Given the description of an element on the screen output the (x, y) to click on. 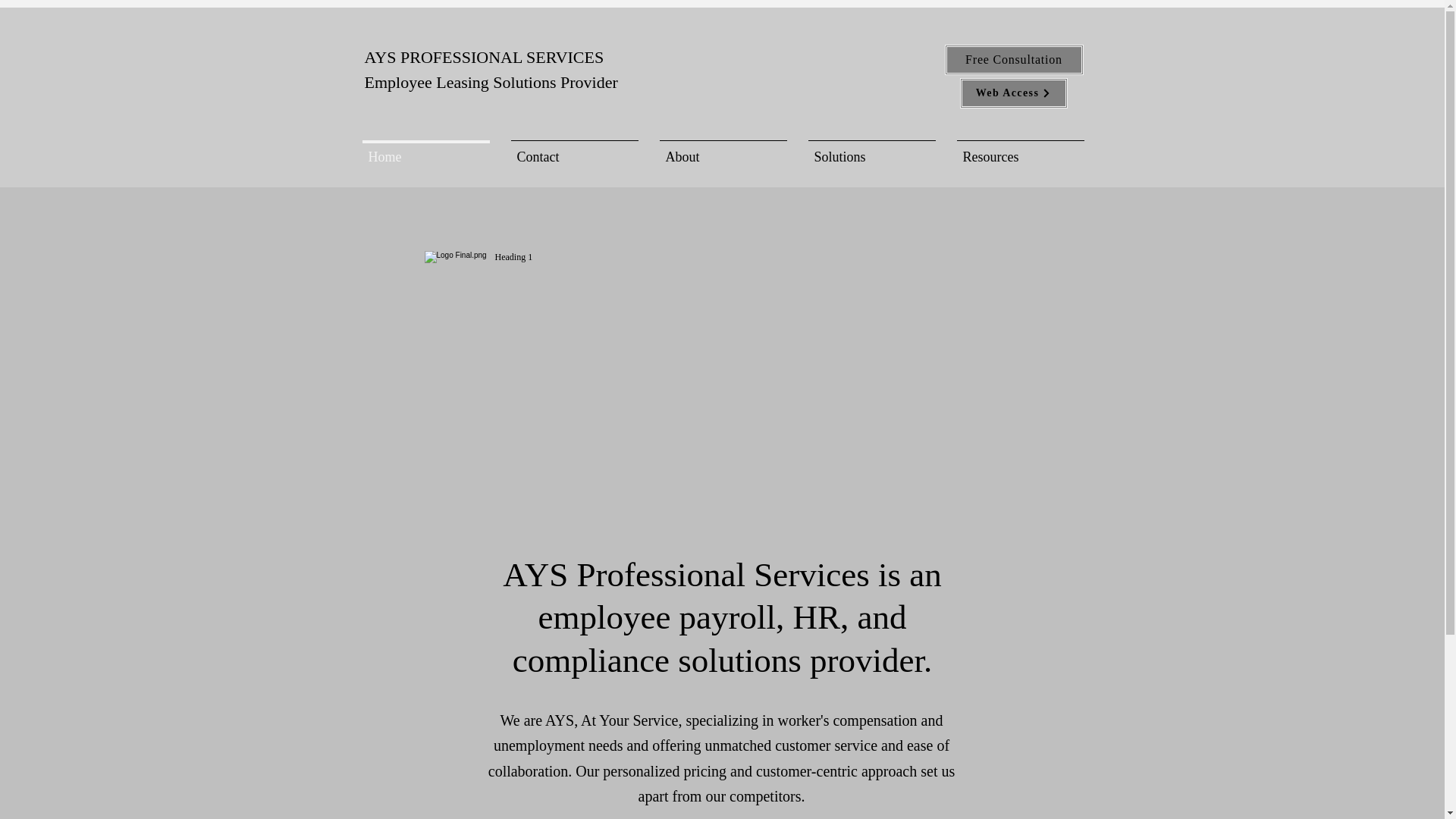
Web Access (1013, 92)
About (723, 150)
Contact (574, 150)
Free Consultation (1013, 60)
AYS PROFESSIONAL SERVICES  (485, 56)
Solutions (871, 150)
Home (426, 150)
Resources (1020, 150)
